Given the description of an element on the screen output the (x, y) to click on. 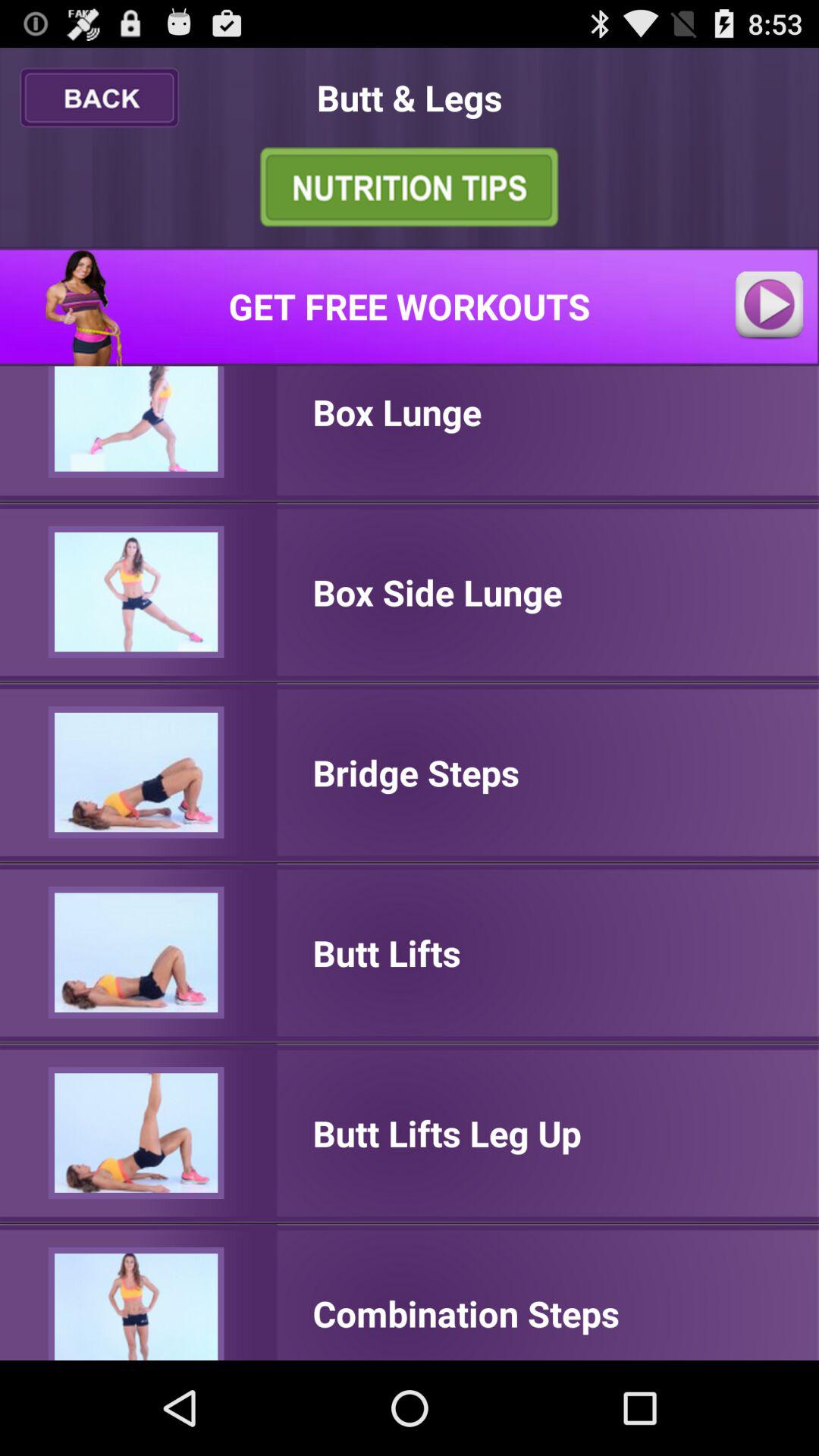
select the icon below box side lunge icon (415, 772)
